Given the description of an element on the screen output the (x, y) to click on. 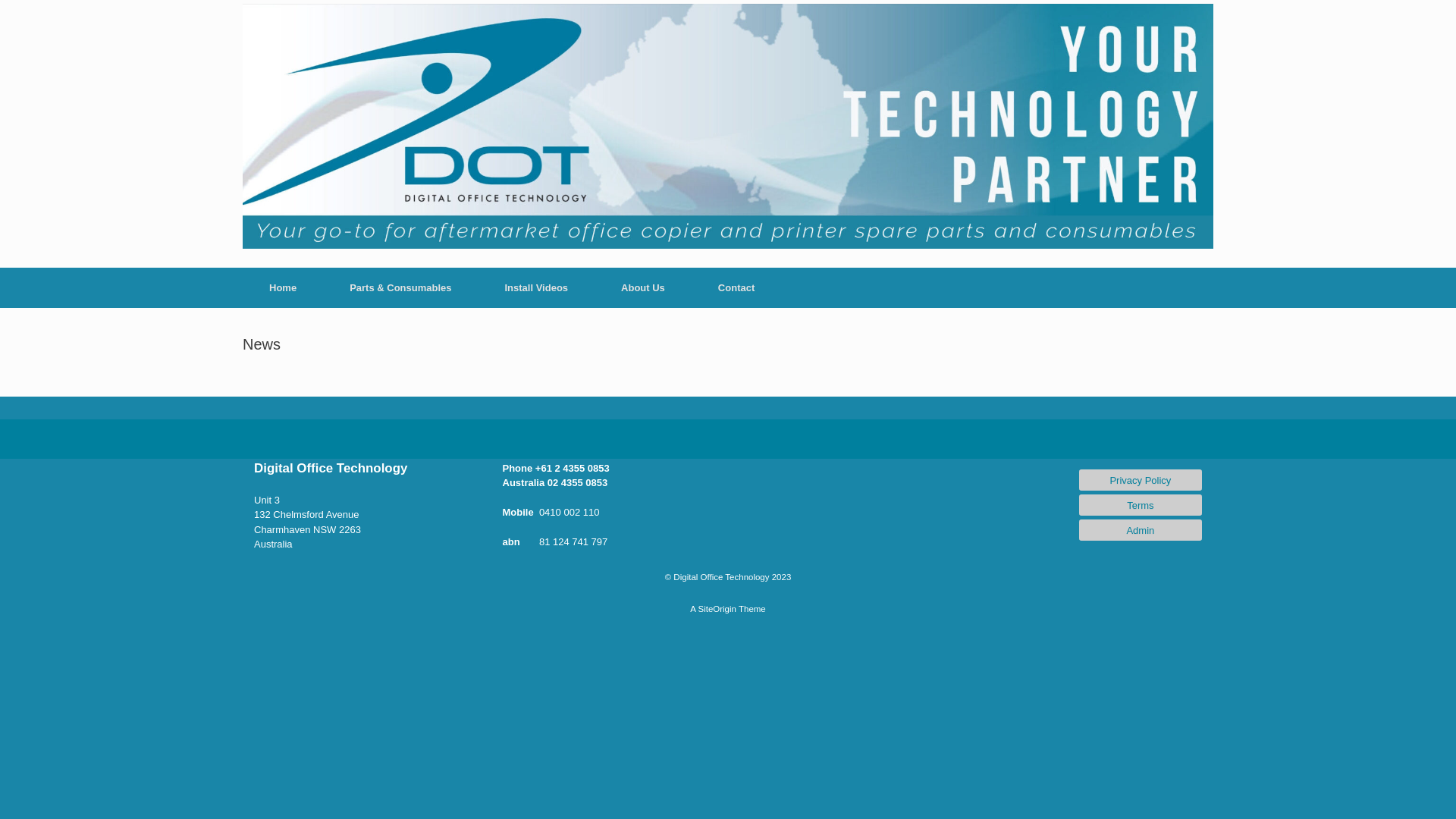
Home Element type: text (282, 286)
Parts & Consumables Element type: text (400, 286)
SiteOrigin Element type: text (716, 608)
Privacy Policy Element type: text (1140, 479)
Contact Element type: text (736, 286)
About Us Element type: text (642, 286)
Admin Element type: text (1140, 529)
Terms Element type: text (1140, 504)
Install Videos Element type: text (535, 286)
